Given the description of an element on the screen output the (x, y) to click on. 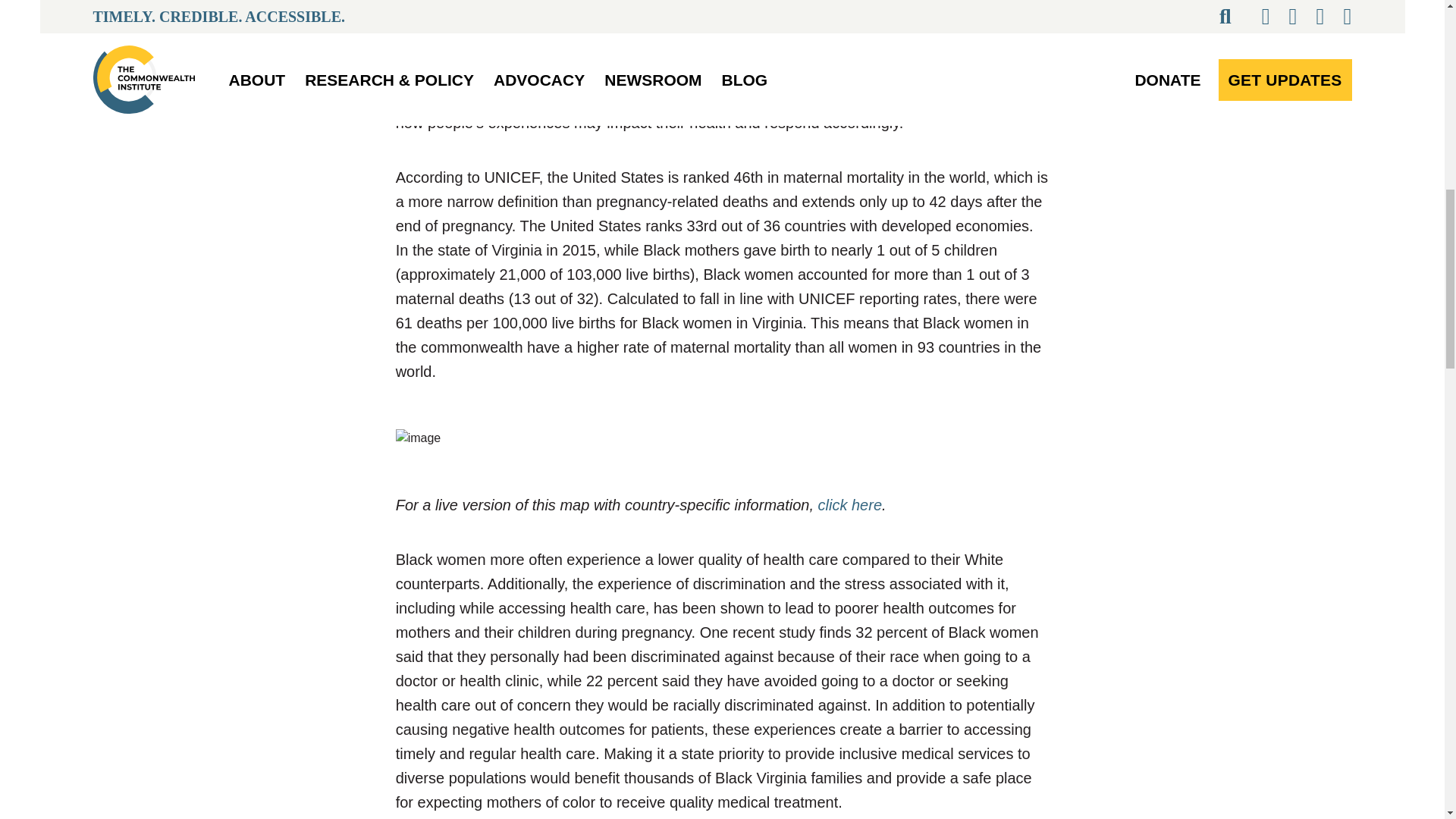
click here (850, 504)
